Given the description of an element on the screen output the (x, y) to click on. 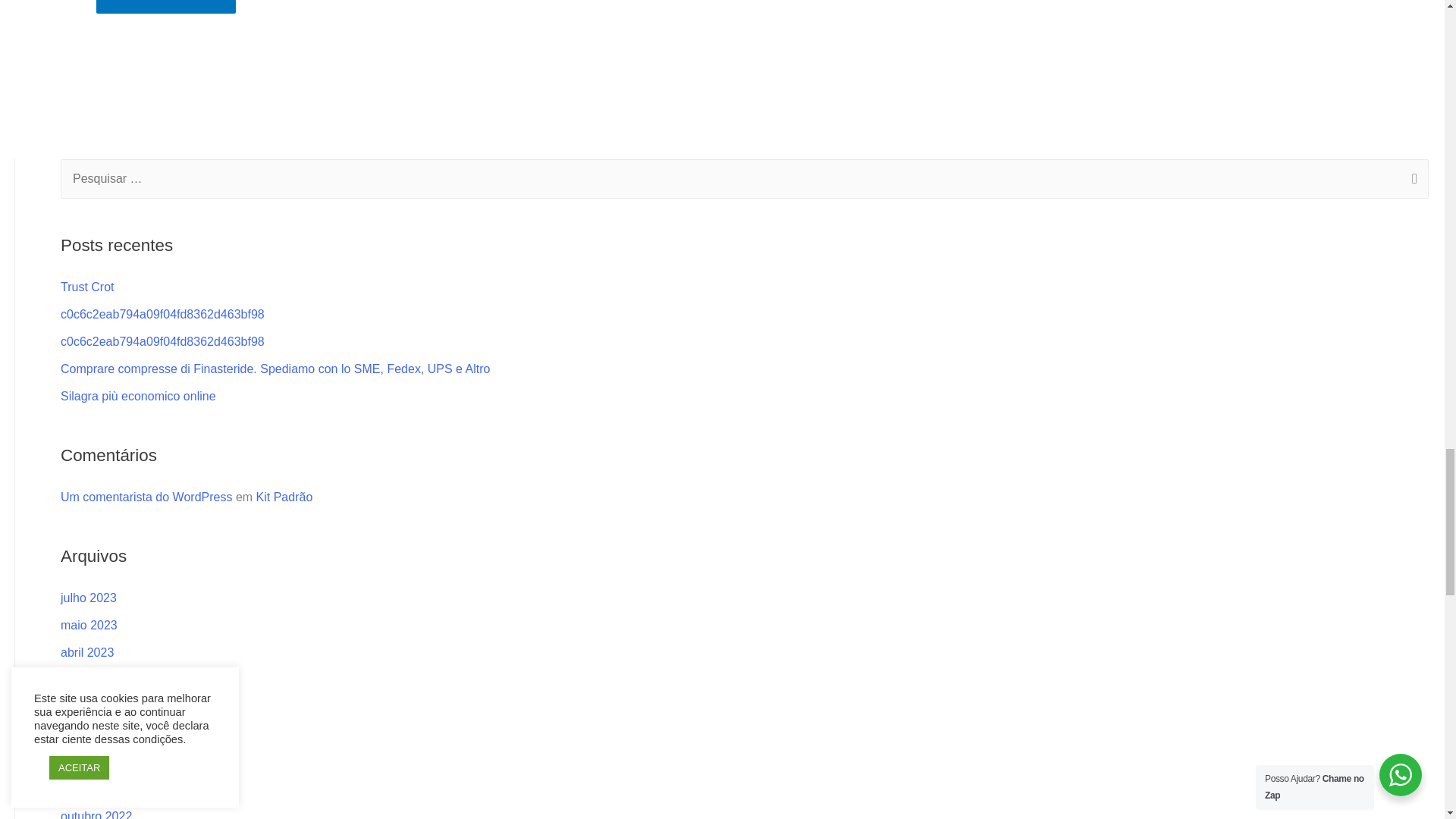
maio 2023 (89, 625)
janeiro 2023 (94, 734)
c0c6c2eab794a09f04fd8362d463bf98 (162, 314)
julho 2023 (88, 597)
fevereiro 2023 (99, 707)
dezembro 2022 (102, 761)
abril 2023 (87, 652)
Trust Crot (88, 286)
Um comentarista do WordPress (146, 496)
